Given the description of an element on the screen output the (x, y) to click on. 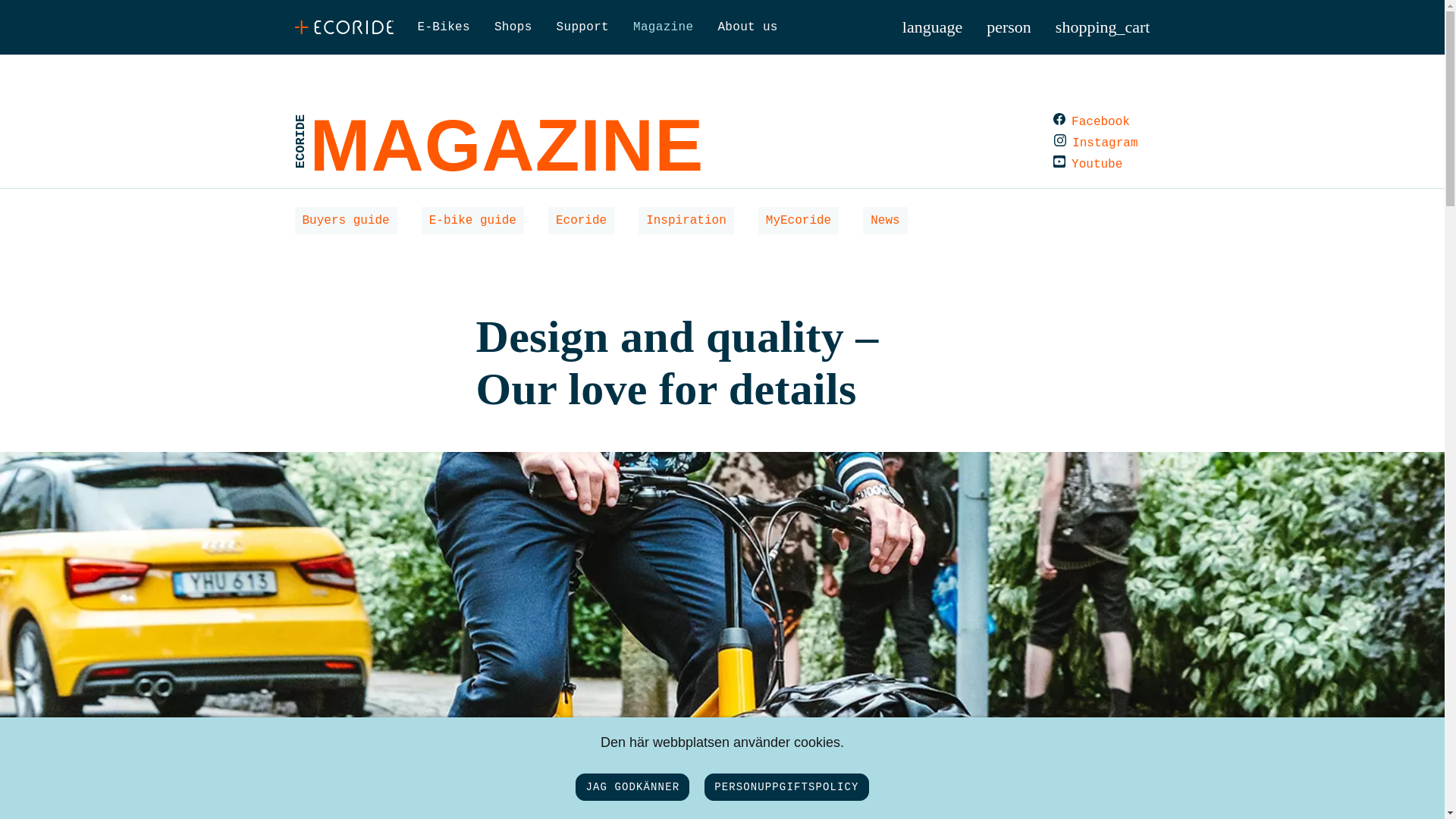
Support (582, 27)
Magazine (663, 27)
About us (747, 27)
language (932, 27)
person (1008, 27)
Shops (513, 27)
E-Bikes (442, 27)
